Given the description of an element on the screen output the (x, y) to click on. 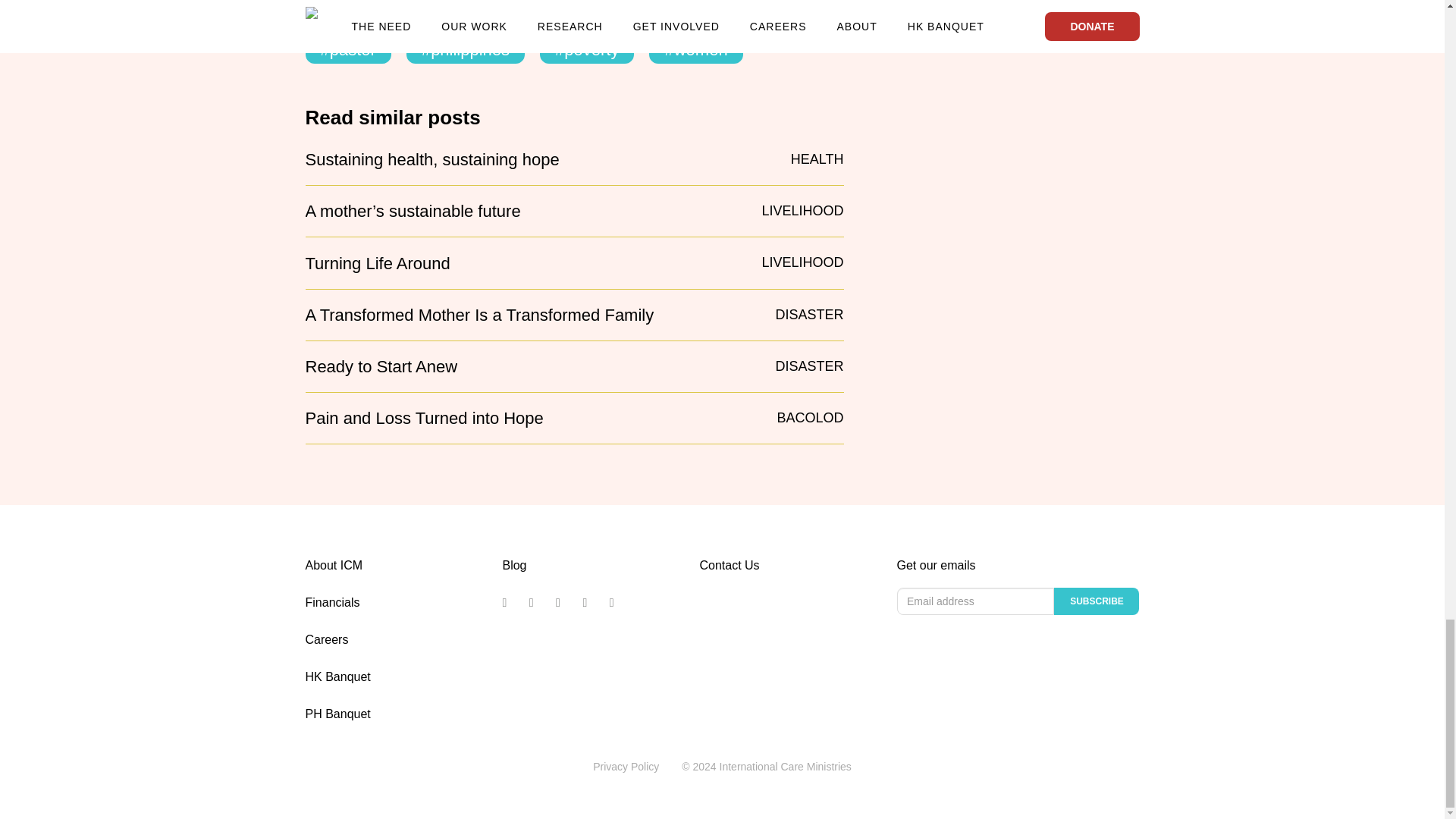
LIVELIHOOD (802, 261)
LIVELIHOOD (802, 210)
Turning Life Around (376, 263)
Read more in Disaster (808, 314)
Subscribe (1096, 601)
Read more in Health (817, 158)
Read more in Livelihood (802, 210)
Read more in Bacolod (809, 417)
A Transformed Mother Is a Transformed Family (478, 315)
DISASTER (808, 365)
Read more in Livelihood (802, 261)
BACOLOD (809, 417)
Read more in Disaster (808, 365)
DISASTER (808, 314)
Ready to Start Anew (380, 366)
